Given the description of an element on the screen output the (x, y) to click on. 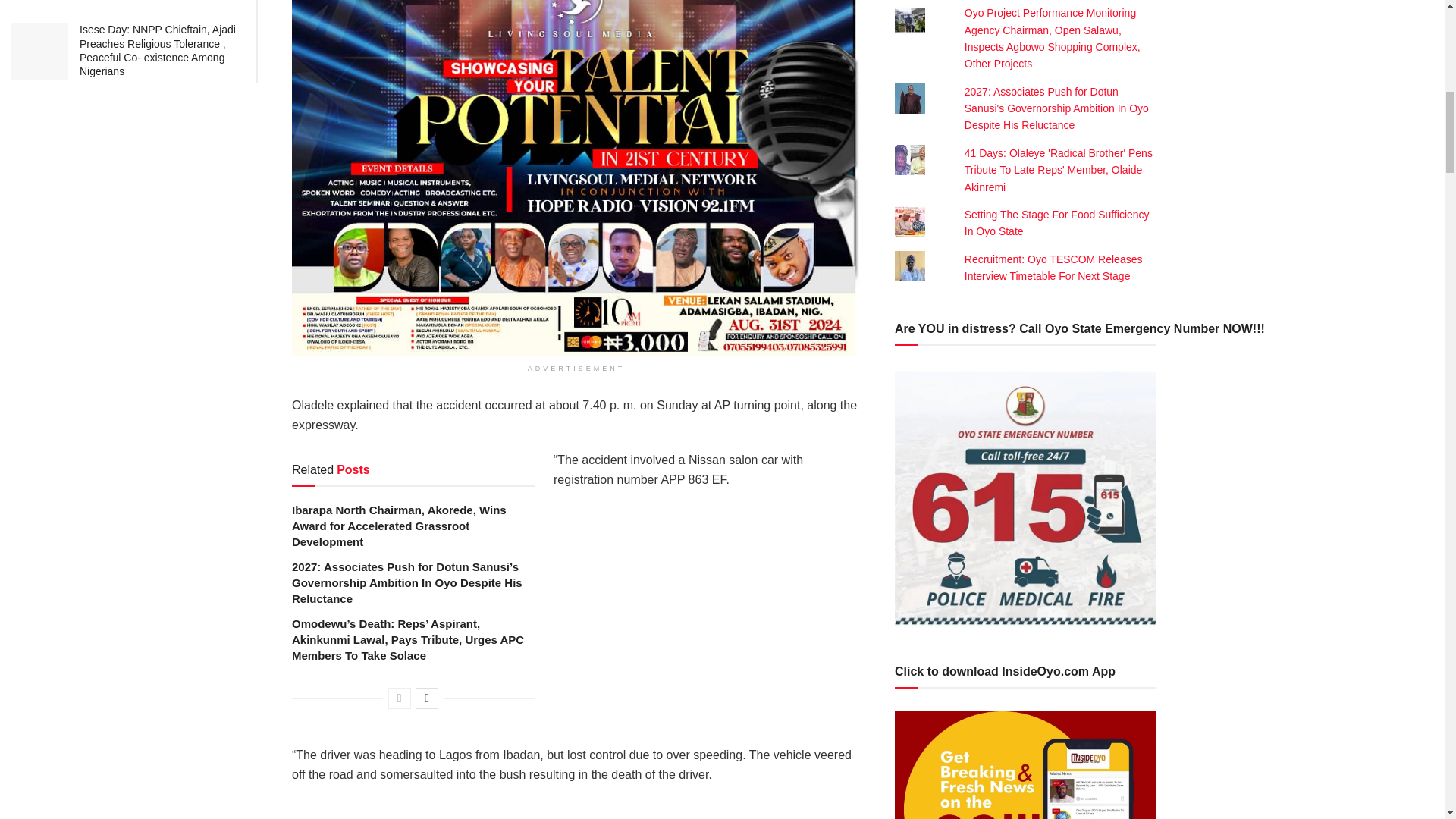
Next (426, 698)
Previous (399, 698)
